Given the description of an element on the screen output the (x, y) to click on. 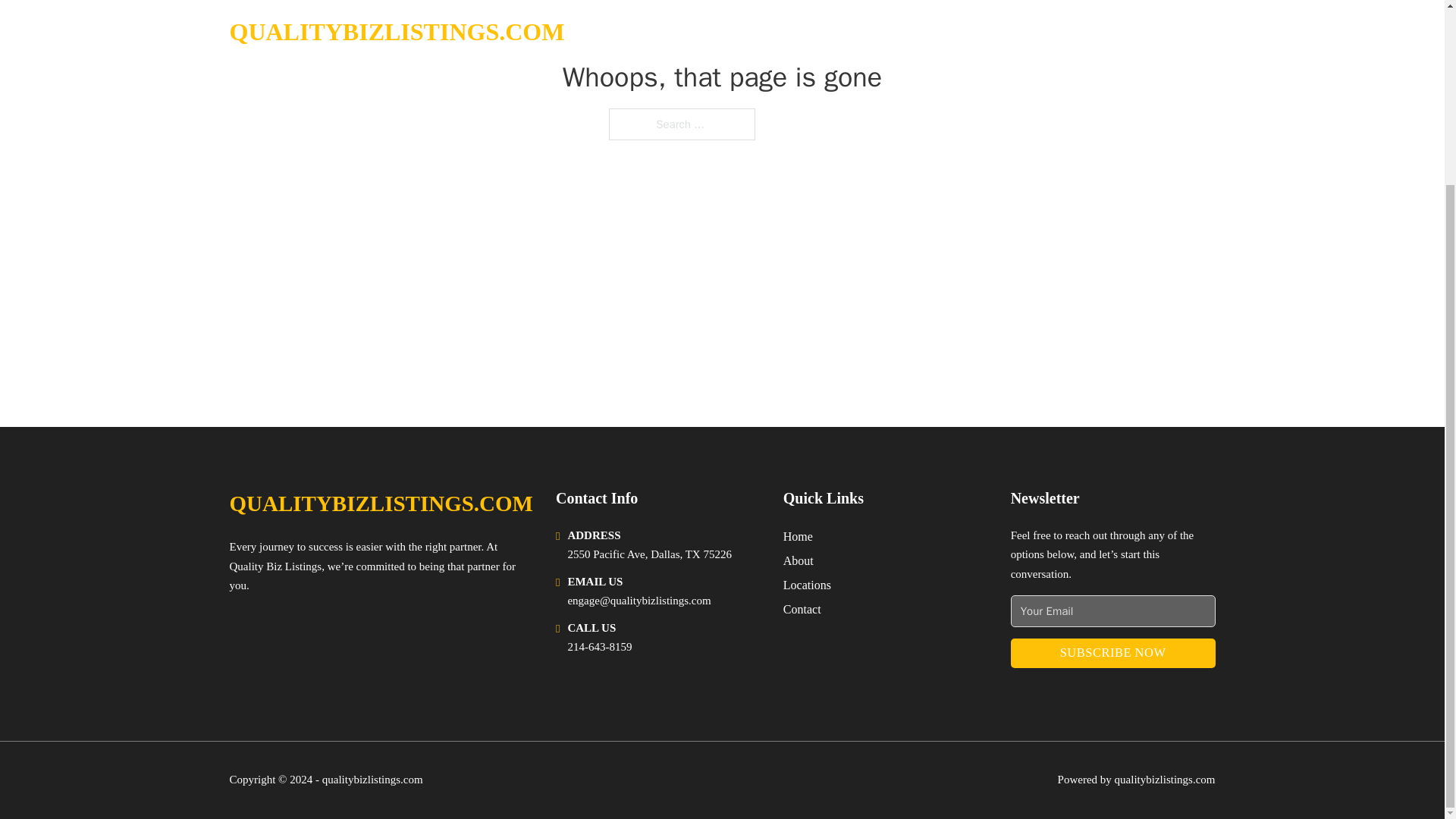
SUBSCRIBE NOW (1112, 653)
Home (797, 536)
QUALITYBIZLISTINGS.COM (380, 503)
About (798, 560)
Contact (802, 608)
Locations (807, 584)
214-643-8159 (599, 646)
